Given the description of an element on the screen output the (x, y) to click on. 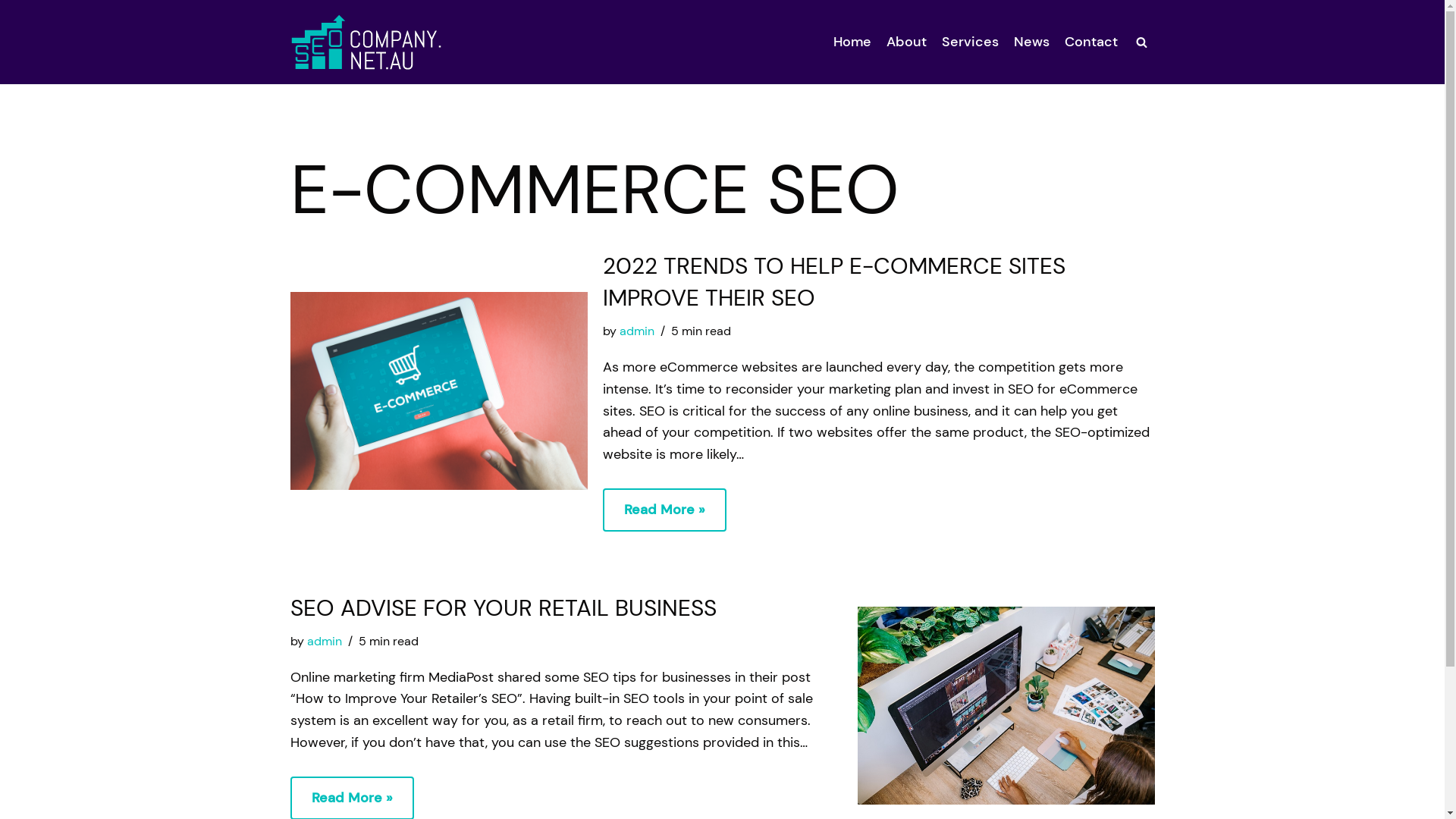
SEO Advise for Your Retail Business Element type: hover (1005, 705)
2022 Trends to Help E-commerce Sites Improve Their SEO Element type: hover (437, 390)
About Element type: text (905, 42)
Company Element type: hover (365, 41)
admin Element type: text (323, 641)
News Element type: text (1030, 42)
Skip to content Element type: text (11, 31)
Services Element type: text (969, 42)
admin Element type: text (635, 330)
Home Element type: text (851, 42)
SEO ADVISE FOR YOUR RETAIL BUSINESS Element type: text (502, 607)
2022 TRENDS TO HELP E-COMMERCE SITES IMPROVE THEIR SEO Element type: text (833, 281)
Contact Element type: text (1090, 42)
